Given the description of an element on the screen output the (x, y) to click on. 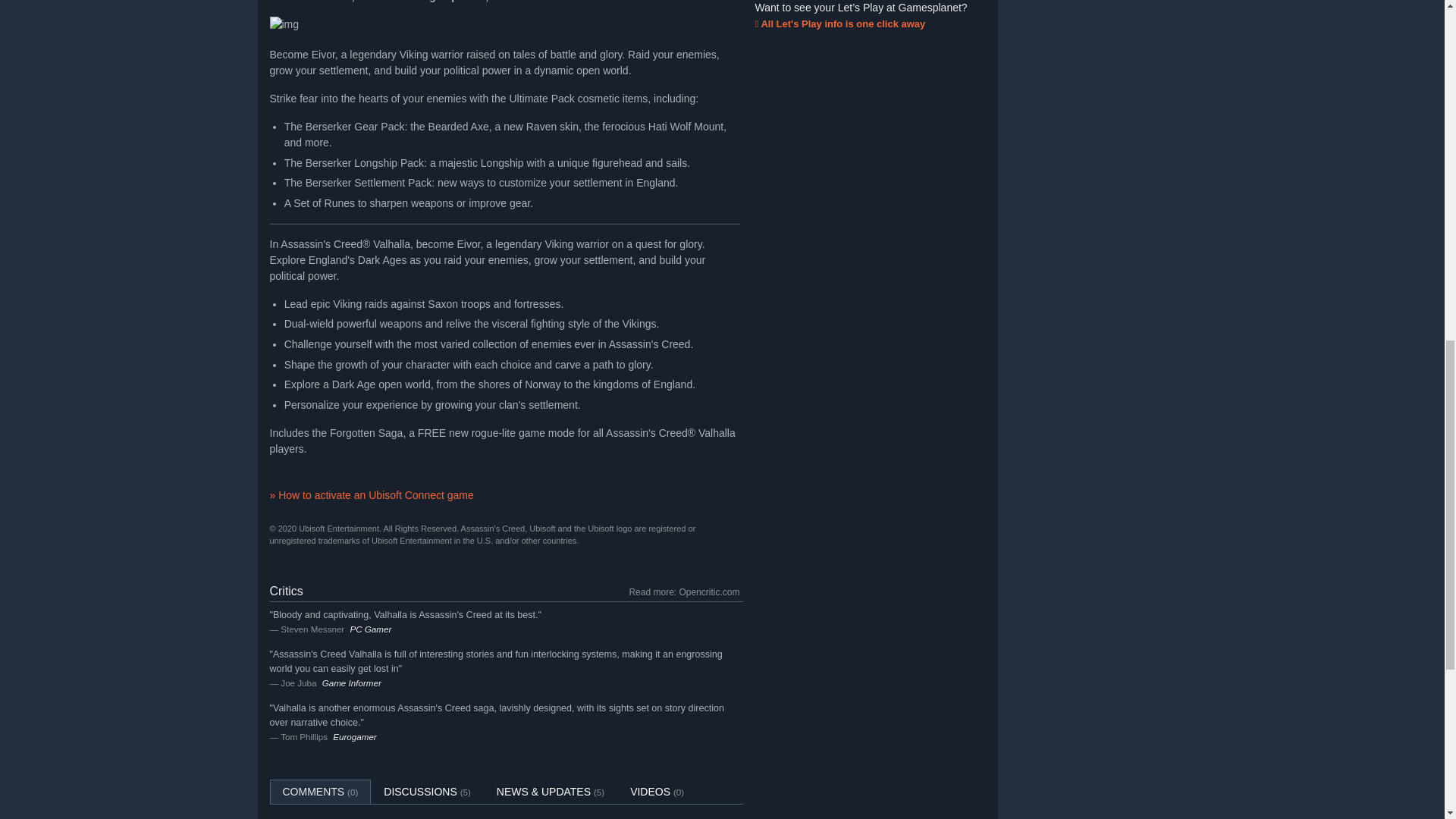
Game Informer (351, 682)
translation missing: en-GB.community.tabs.videos (649, 791)
Eurogamer (354, 737)
PC Gamer (370, 628)
